Given the description of an element on the screen output the (x, y) to click on. 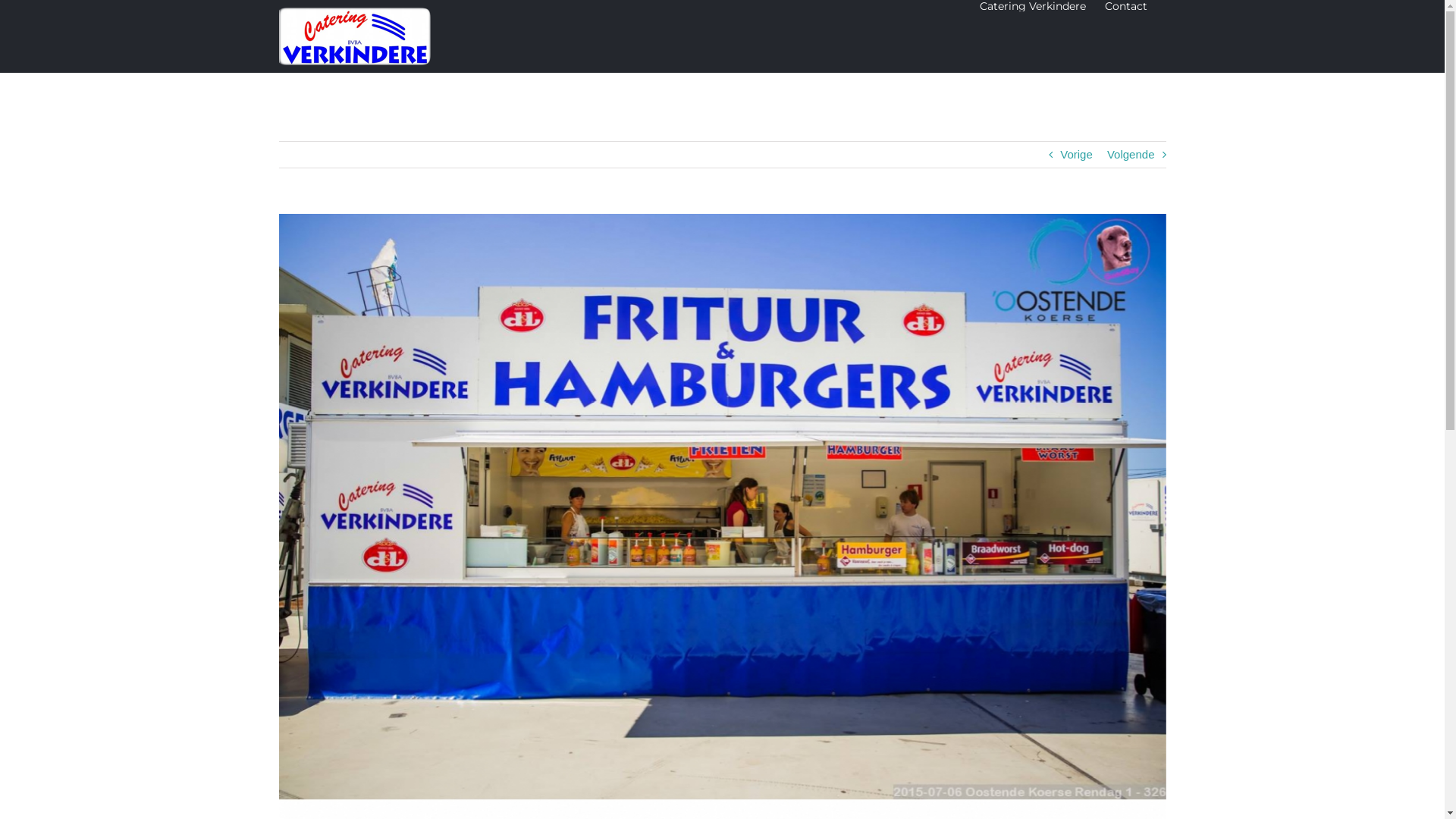
Contact Element type: text (1125, 5)
Volgende Element type: text (1130, 154)
Vorige Element type: text (1076, 154)
Catering Verkindere Element type: text (1032, 5)
